Given the description of an element on the screen output the (x, y) to click on. 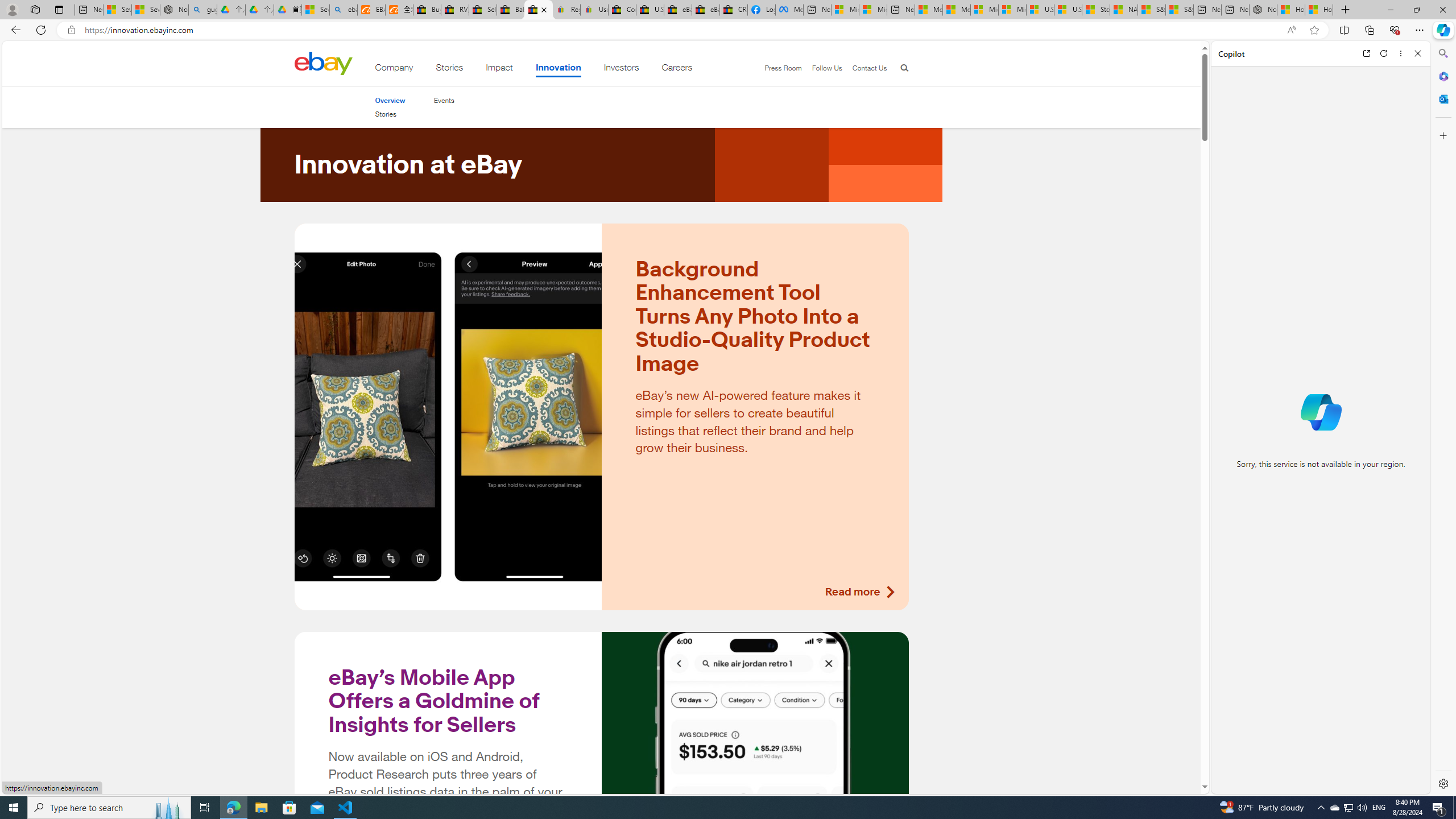
Events (443, 99)
Log into Facebook (761, 9)
Microsoft account | Privacy (872, 9)
Investors (620, 69)
Side bar (1443, 418)
Stories (385, 113)
eBay Inc. Reports Third Quarter 2023 Results (706, 9)
Follow Us (826, 67)
